Given the description of an element on the screen output the (x, y) to click on. 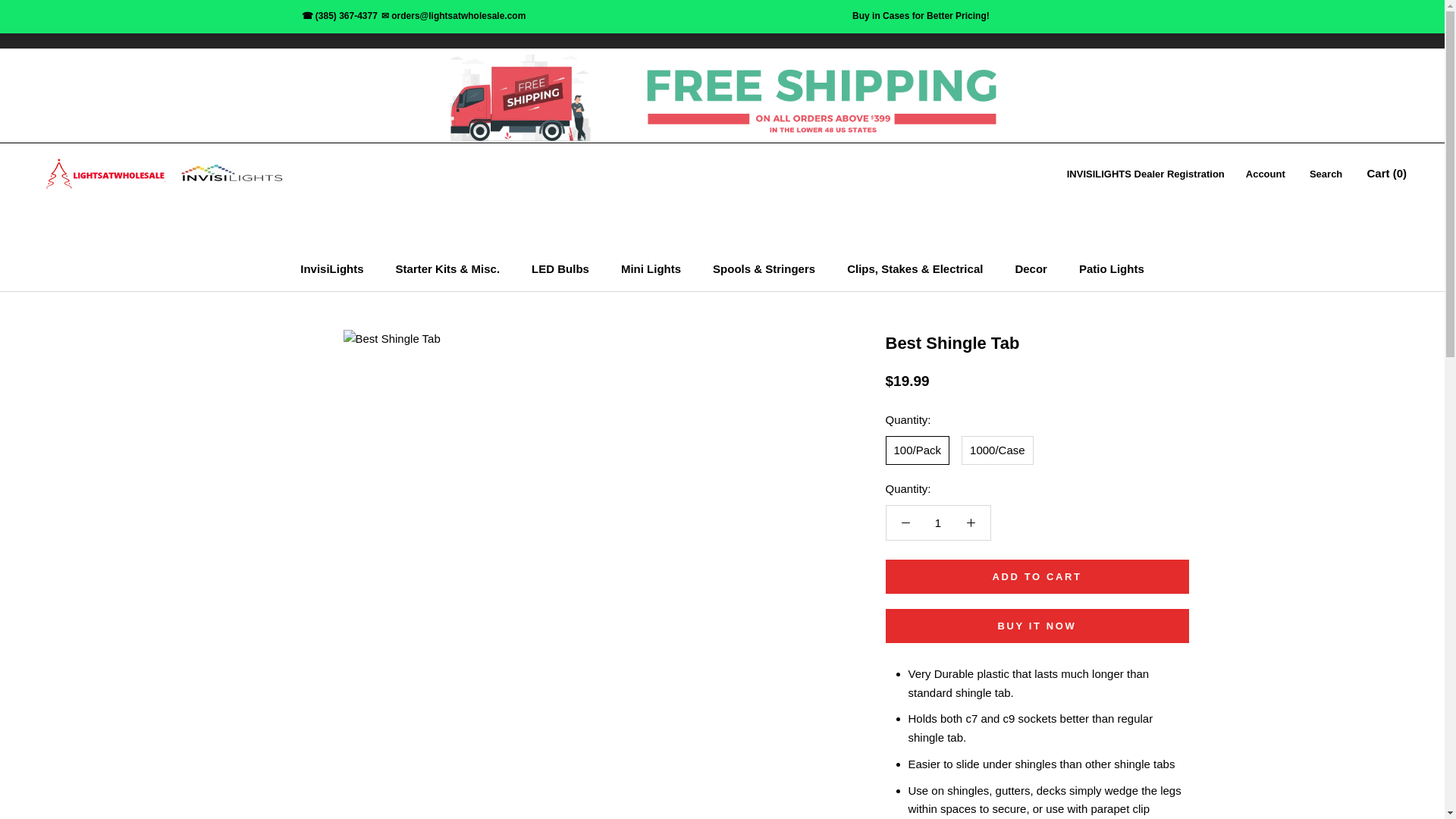
1 (938, 522)
